Given the description of an element on the screen output the (x, y) to click on. 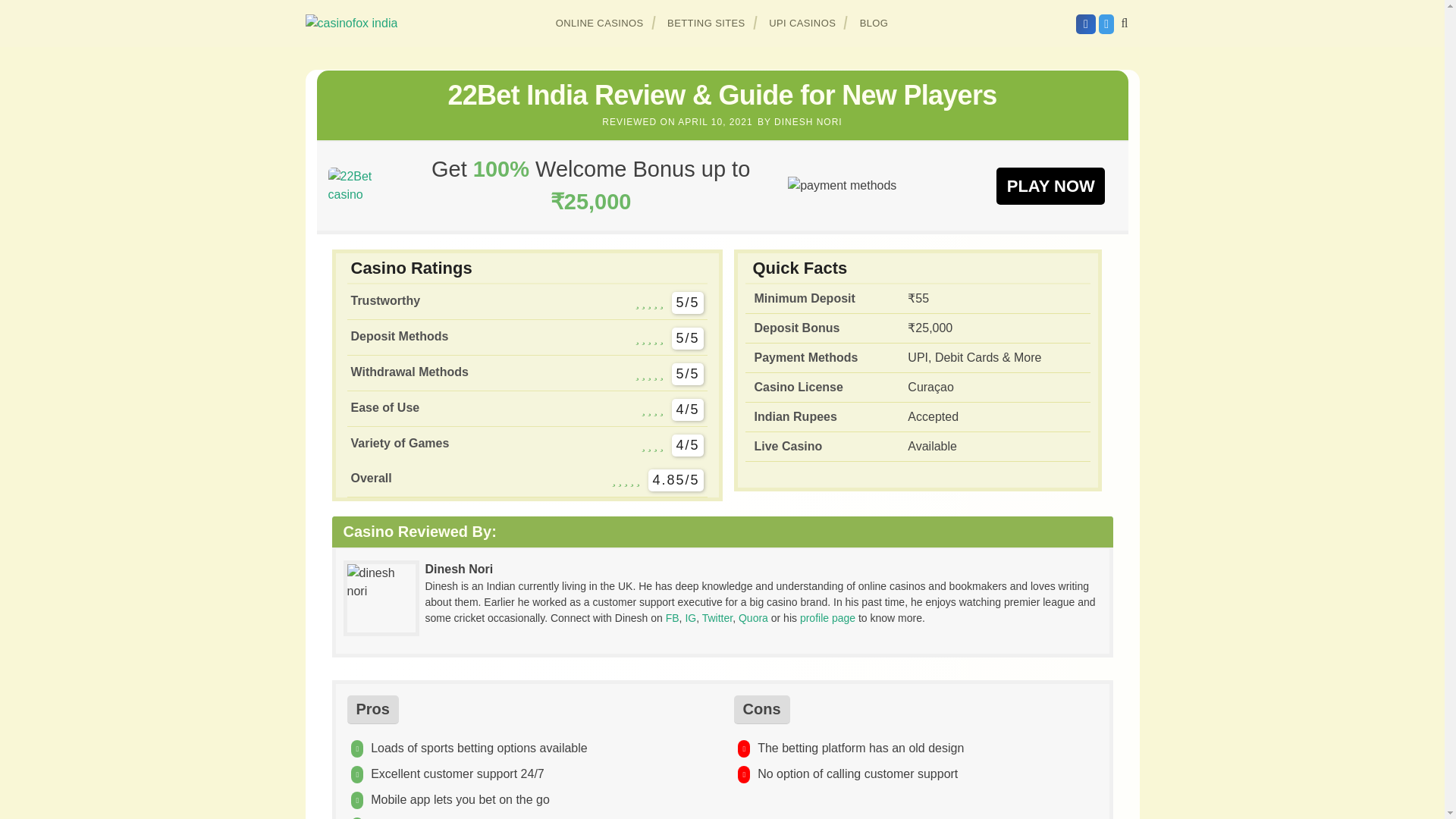
IG (689, 617)
UPI CASINOS (801, 23)
ONLINE CASINOS (599, 23)
BETTING SITES (706, 23)
Twitter (716, 617)
22Bet (360, 185)
PLAY NOW (1050, 185)
22Bet (1050, 185)
Quora (753, 617)
FB (672, 617)
